Given the description of an element on the screen output the (x, y) to click on. 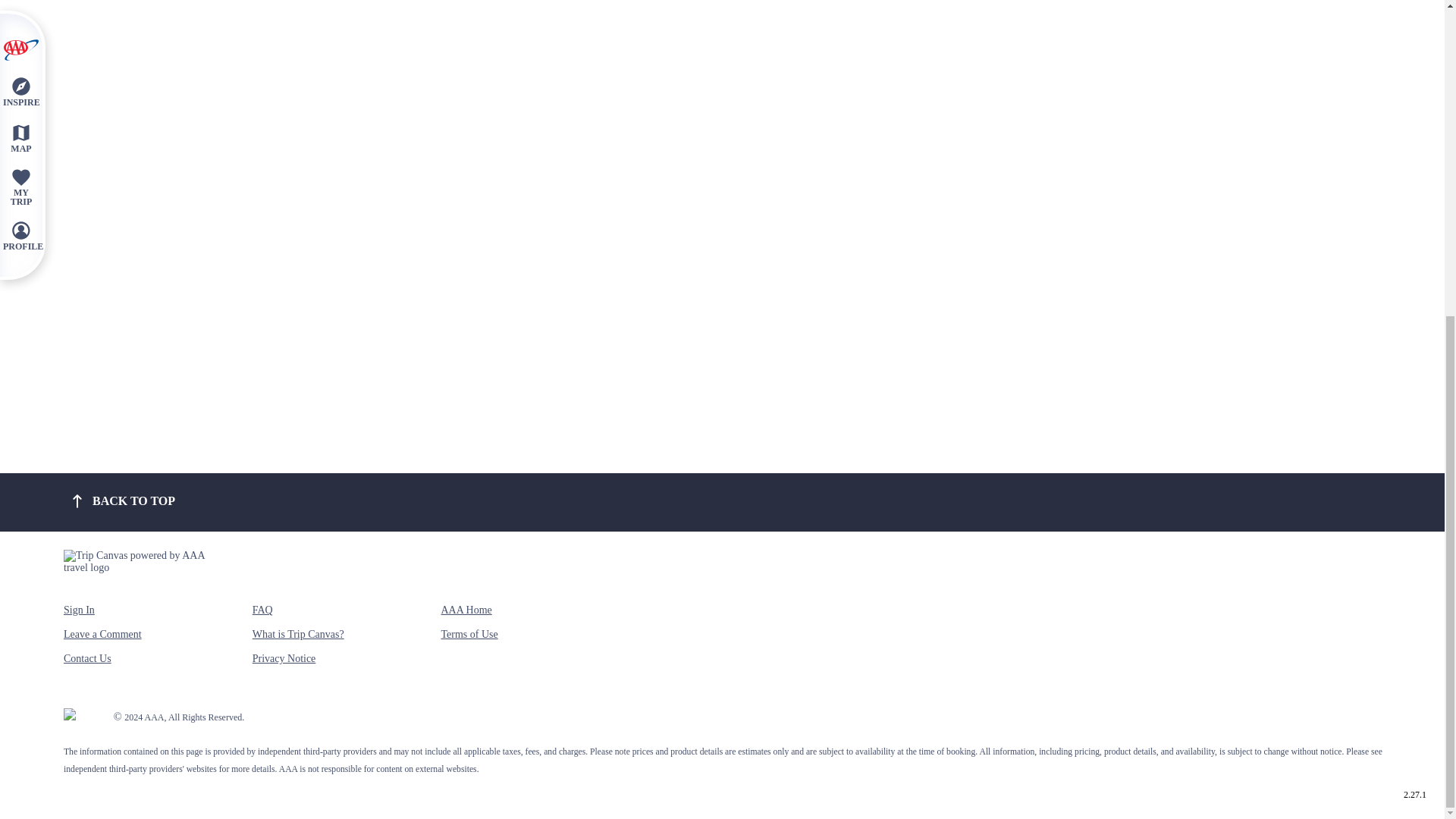
Contact Us (88, 664)
Terms of Use (469, 640)
Leave a Comment (102, 640)
BACK TO TOP (121, 501)
What is Trip Canvas? (297, 640)
Sign In (79, 616)
Privacy Notice (283, 664)
FAQ (262, 616)
AAA Home (466, 616)
